Given the description of an element on the screen output the (x, y) to click on. 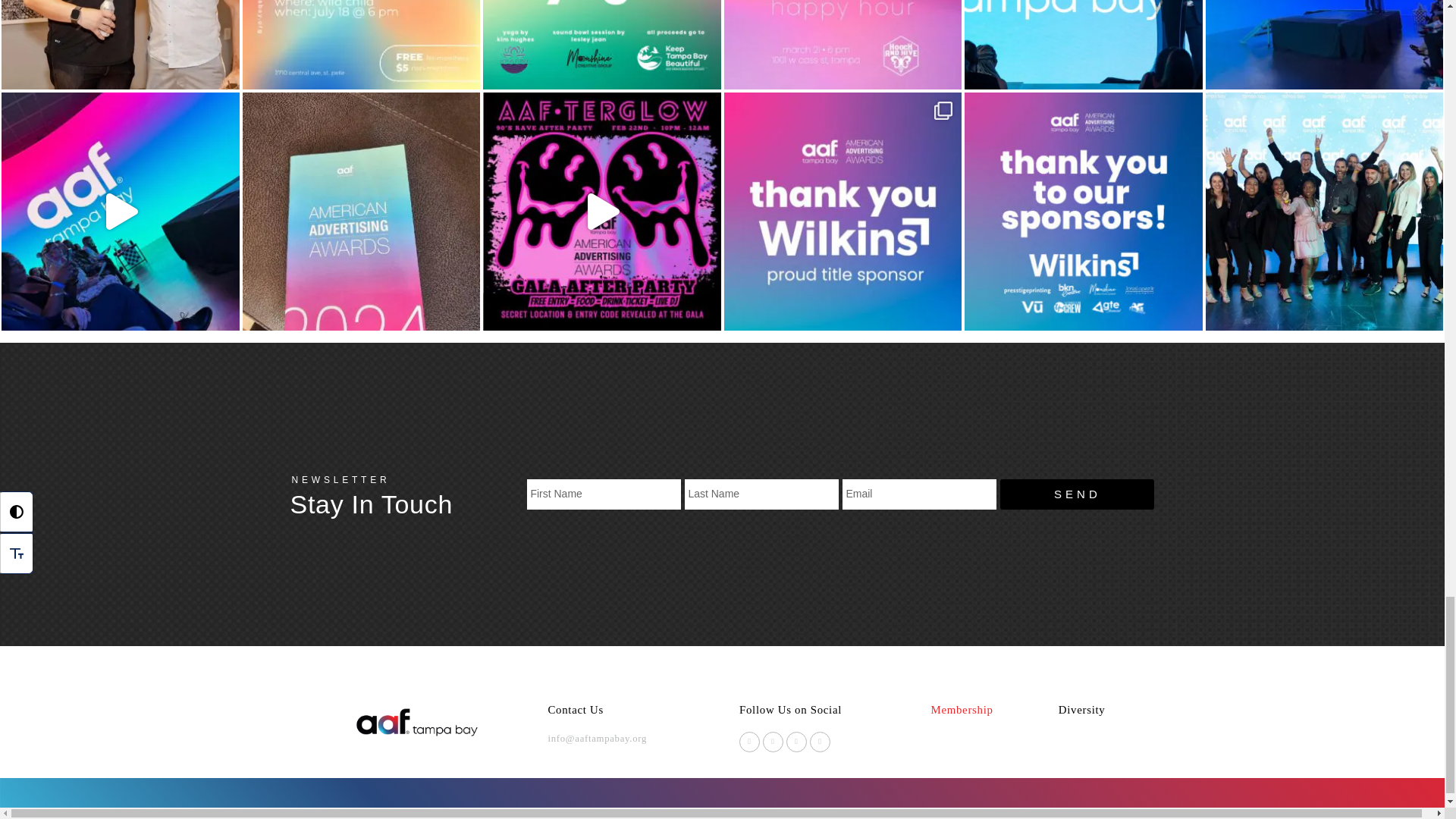
SEND (1077, 494)
